Given the description of an element on the screen output the (x, y) to click on. 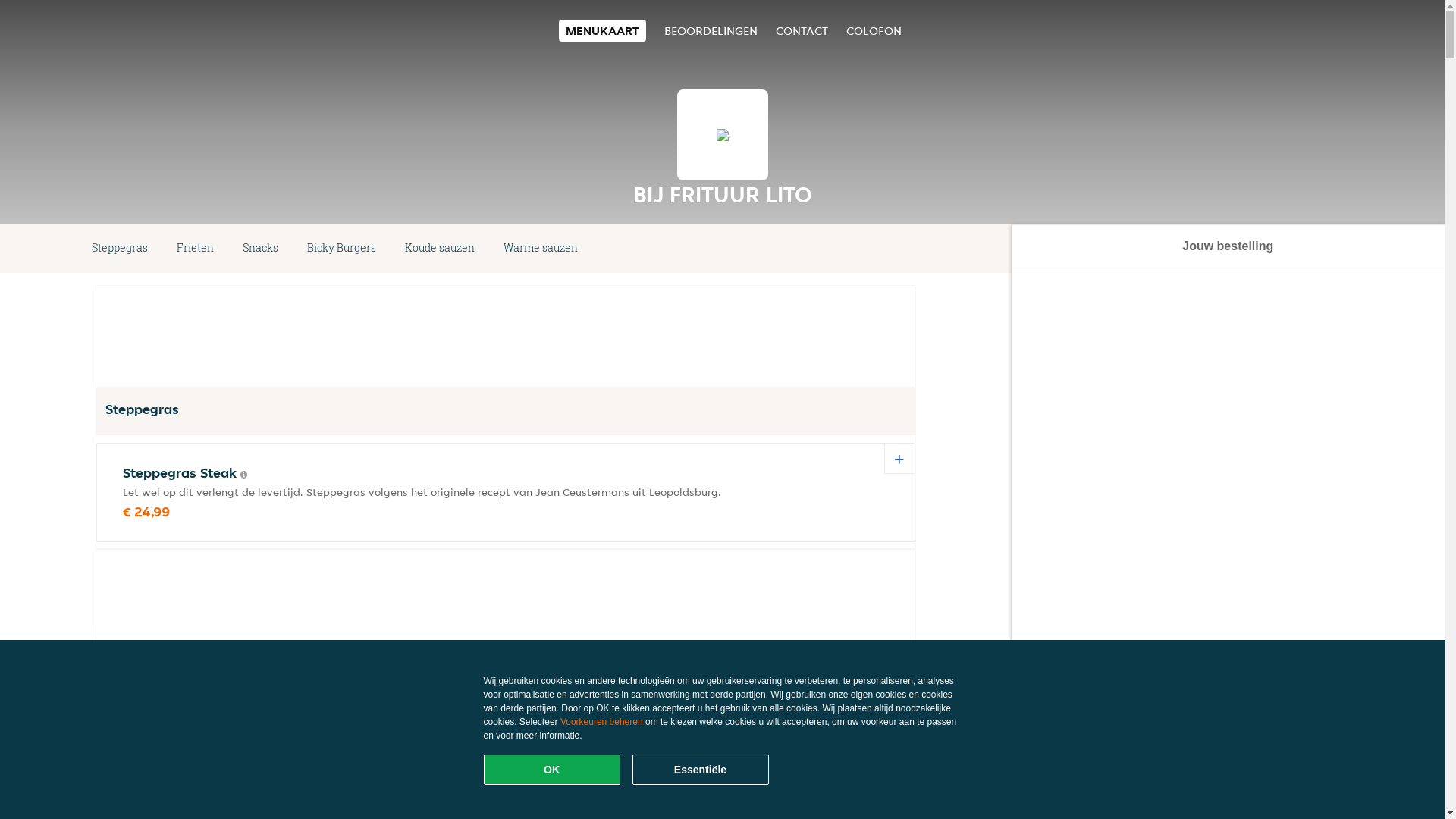
MENUKAART Element type: text (601, 30)
COLOFON Element type: text (873, 30)
Steppegras Element type: text (119, 248)
Frieten Element type: text (195, 248)
Koude sauzen Element type: text (439, 248)
Voorkeuren beheren Element type: text (601, 721)
Bicky Burgers Element type: text (341, 248)
CONTACT Element type: text (801, 30)
Meer productinformatie Element type: hover (243, 474)
Warme sauzen Element type: text (540, 248)
Snacks Element type: text (260, 248)
BEOORDELINGEN Element type: text (710, 30)
OK Element type: text (551, 769)
